Given the description of an element on the screen output the (x, y) to click on. 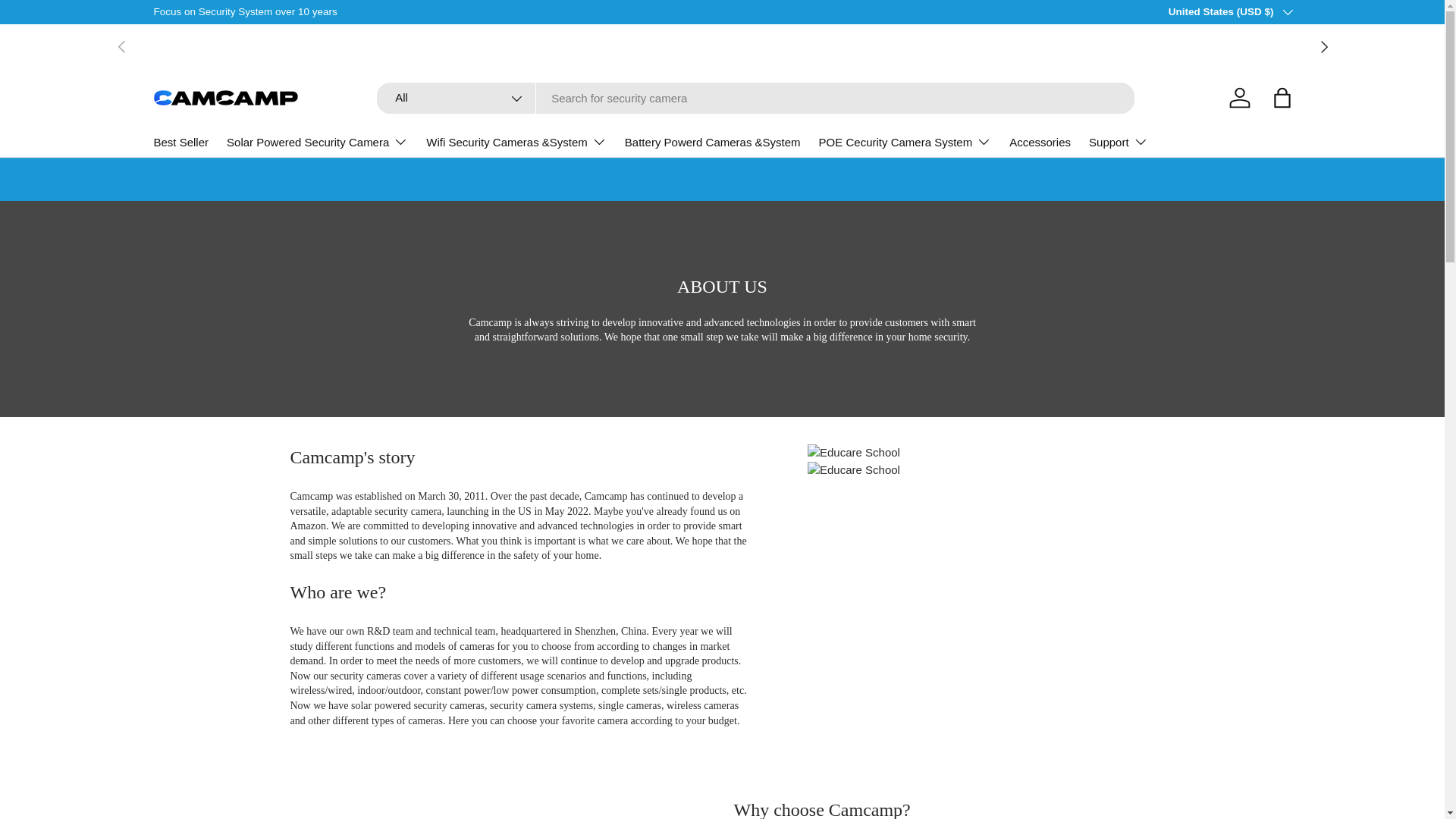
Log in (1239, 97)
Support (1118, 141)
POE Cecurity Camera System (904, 141)
All (456, 97)
SKIP TO CONTENT (68, 21)
Bag (1281, 97)
NEXT (1322, 46)
Best Seller (180, 142)
Accessories (1039, 142)
Solar Powered Security Camera (317, 141)
PREVIOUS (121, 46)
